Given the description of an element on the screen output the (x, y) to click on. 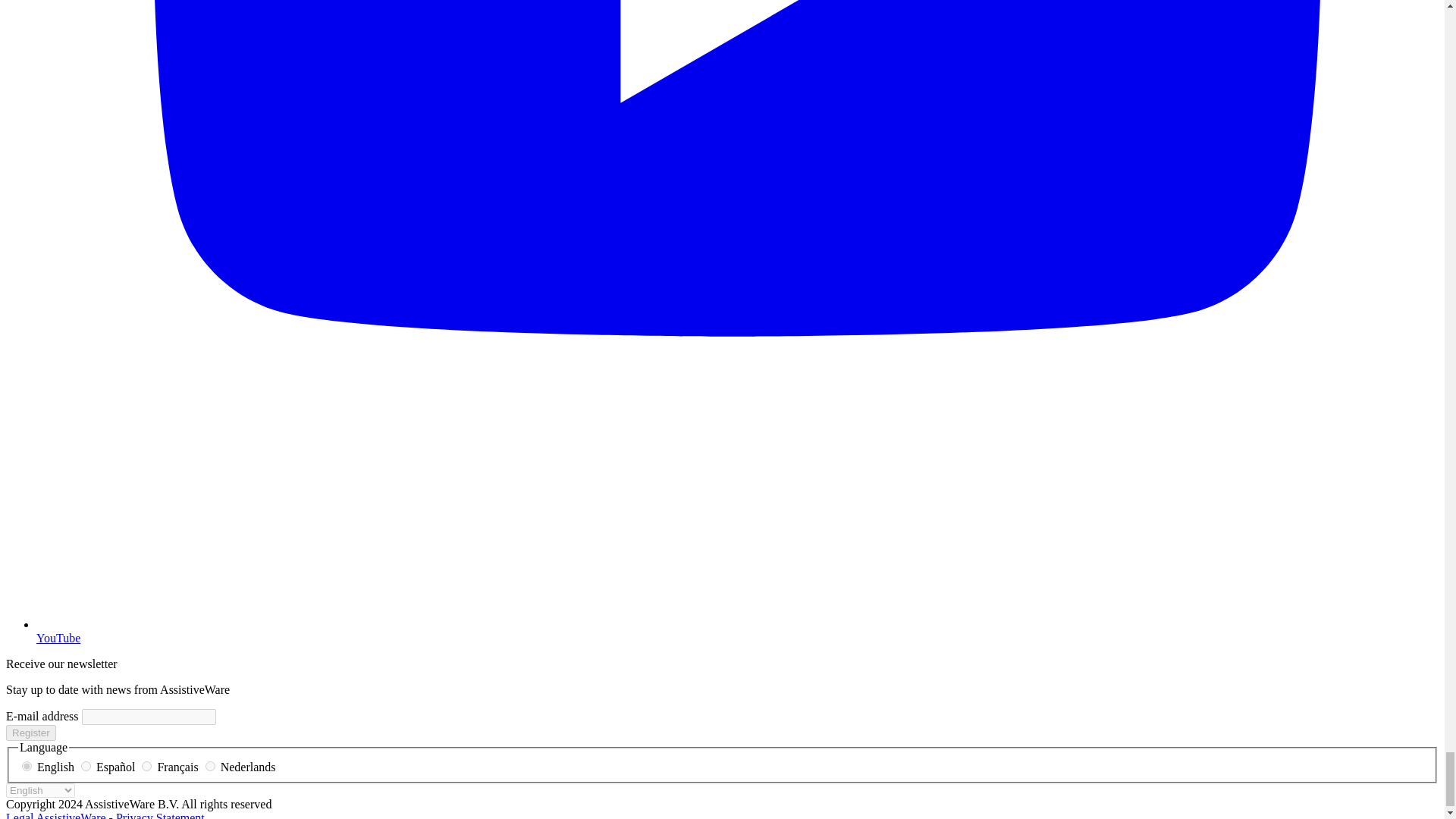
Spanish (85, 766)
Register (30, 732)
French (146, 766)
Dutch (210, 766)
Register (30, 732)
English (26, 766)
